Given the description of an element on the screen output the (x, y) to click on. 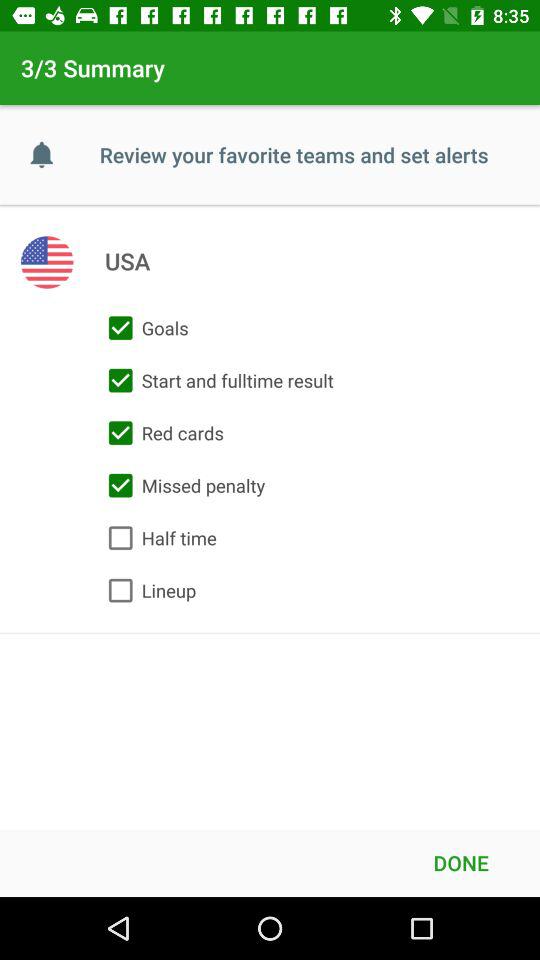
press the half time item (157, 538)
